Given the description of an element on the screen output the (x, y) to click on. 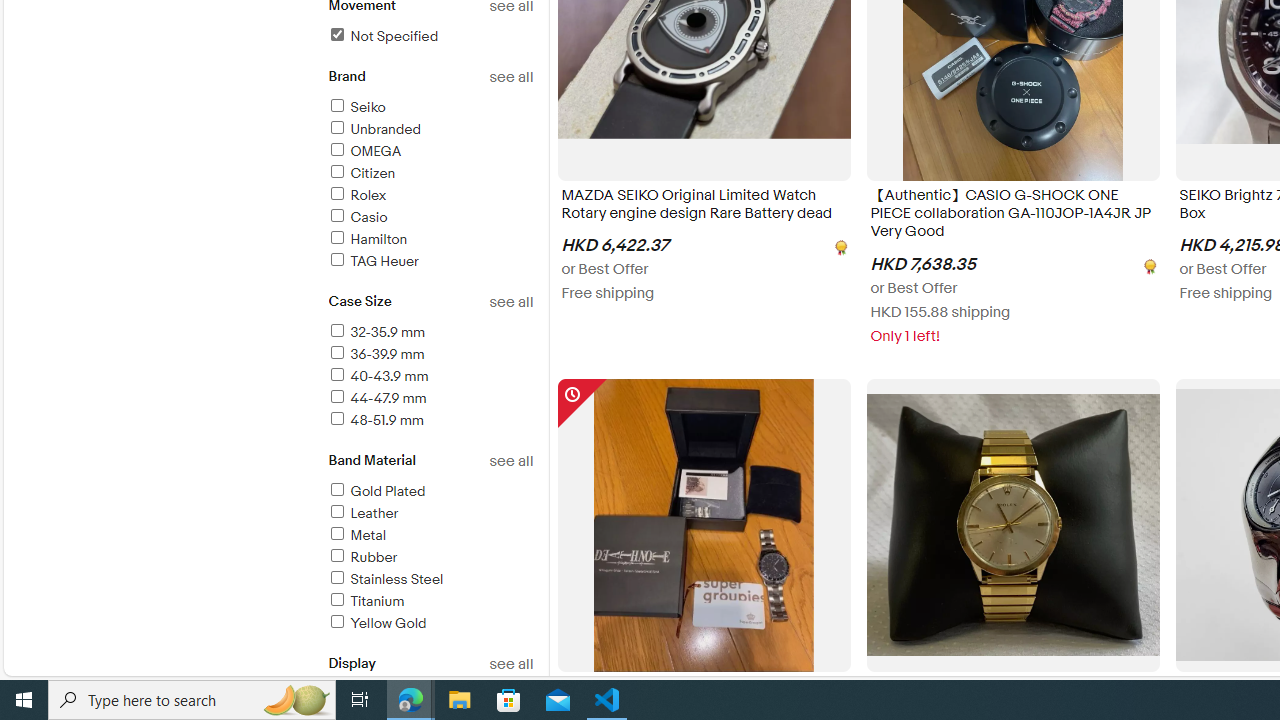
Metal (356, 535)
Citizen (430, 174)
See all brand refinements (510, 77)
See all band material refinements (510, 461)
Titanium (365, 601)
Seiko (356, 107)
Not Specified Filter Applied (382, 36)
36-39.9 mm (375, 354)
Rubber (430, 558)
40-43.9 mm (377, 376)
Gold Plated (430, 492)
TAG Heuer (372, 261)
Casio (430, 218)
